Given the description of an element on the screen output the (x, y) to click on. 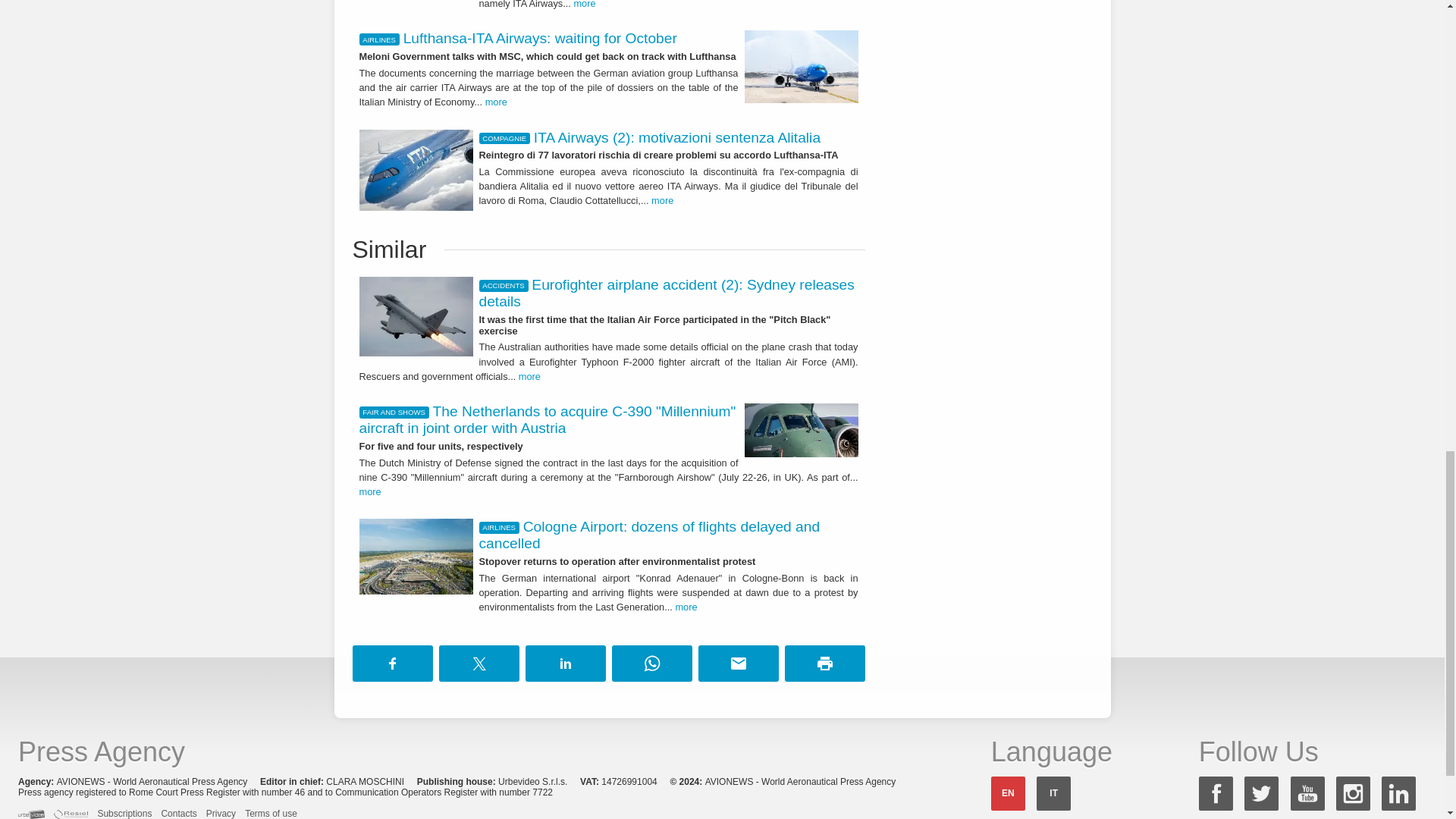
C-390 Millennium airplane (801, 430)
ITA Airways (801, 66)
Air view of the Cologne-Bonn Airport (416, 556)
Eurofighter Typhoon of Italian Air Force during take off (416, 316)
Aereo Ita Airways (416, 169)
